Given the description of an element on the screen output the (x, y) to click on. 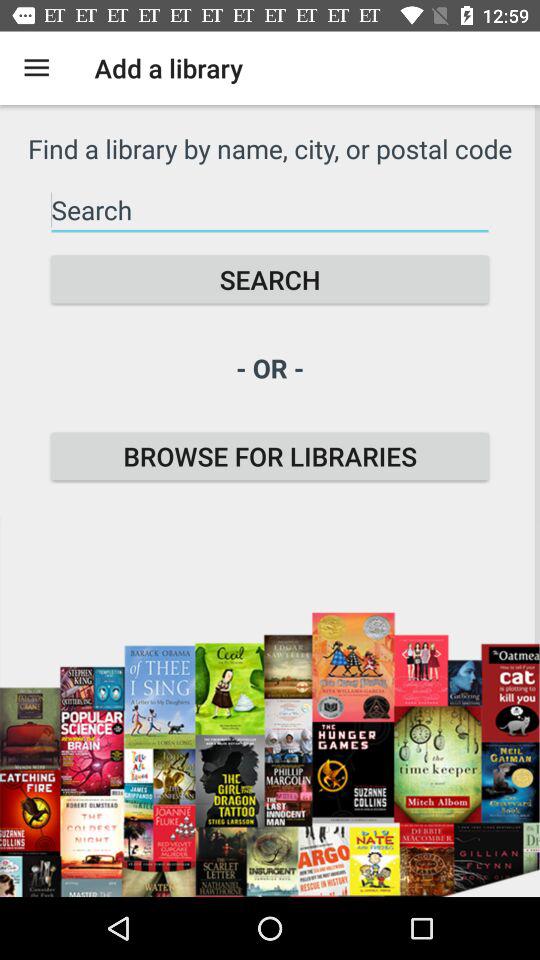
turn on the search (269, 279)
